Given the description of an element on the screen output the (x, y) to click on. 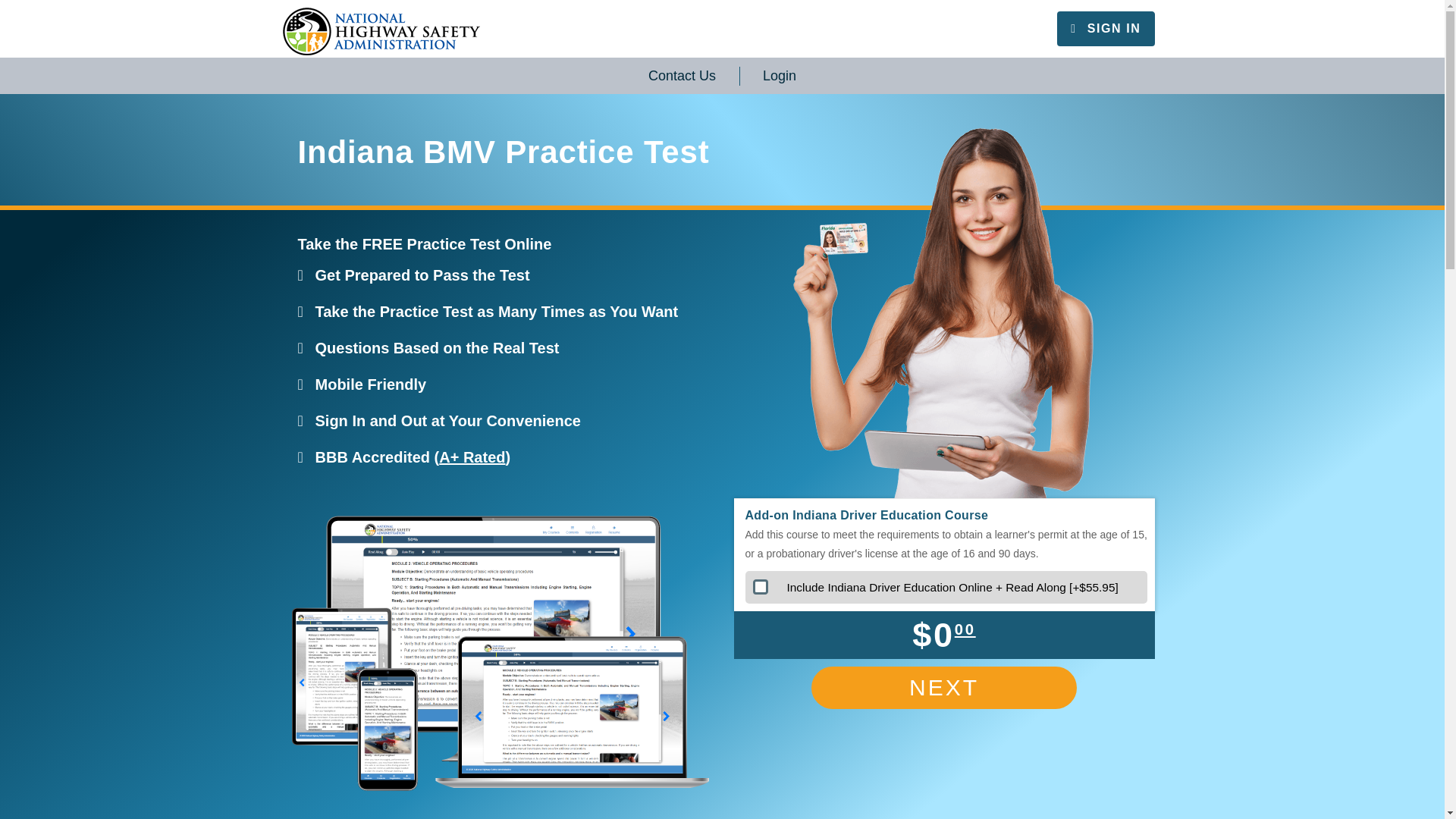
Contact Us (681, 75)
Chat (1406, 779)
Contact Us (681, 75)
NEXT (943, 687)
Login (779, 75)
 SIGN IN (1105, 28)
Login (779, 75)
